Given the description of an element on the screen output the (x, y) to click on. 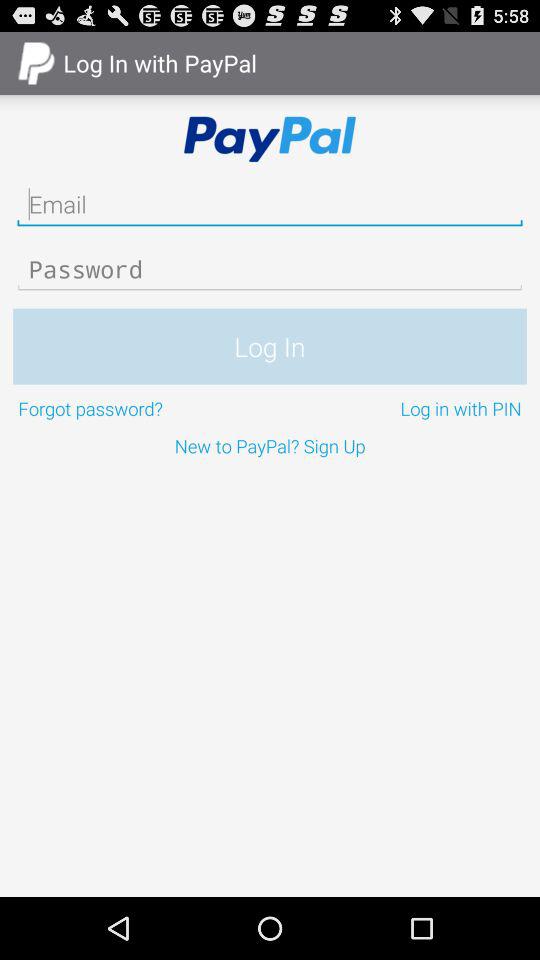
press icon below the log in icon (141, 408)
